Given the description of an element on the screen output the (x, y) to click on. 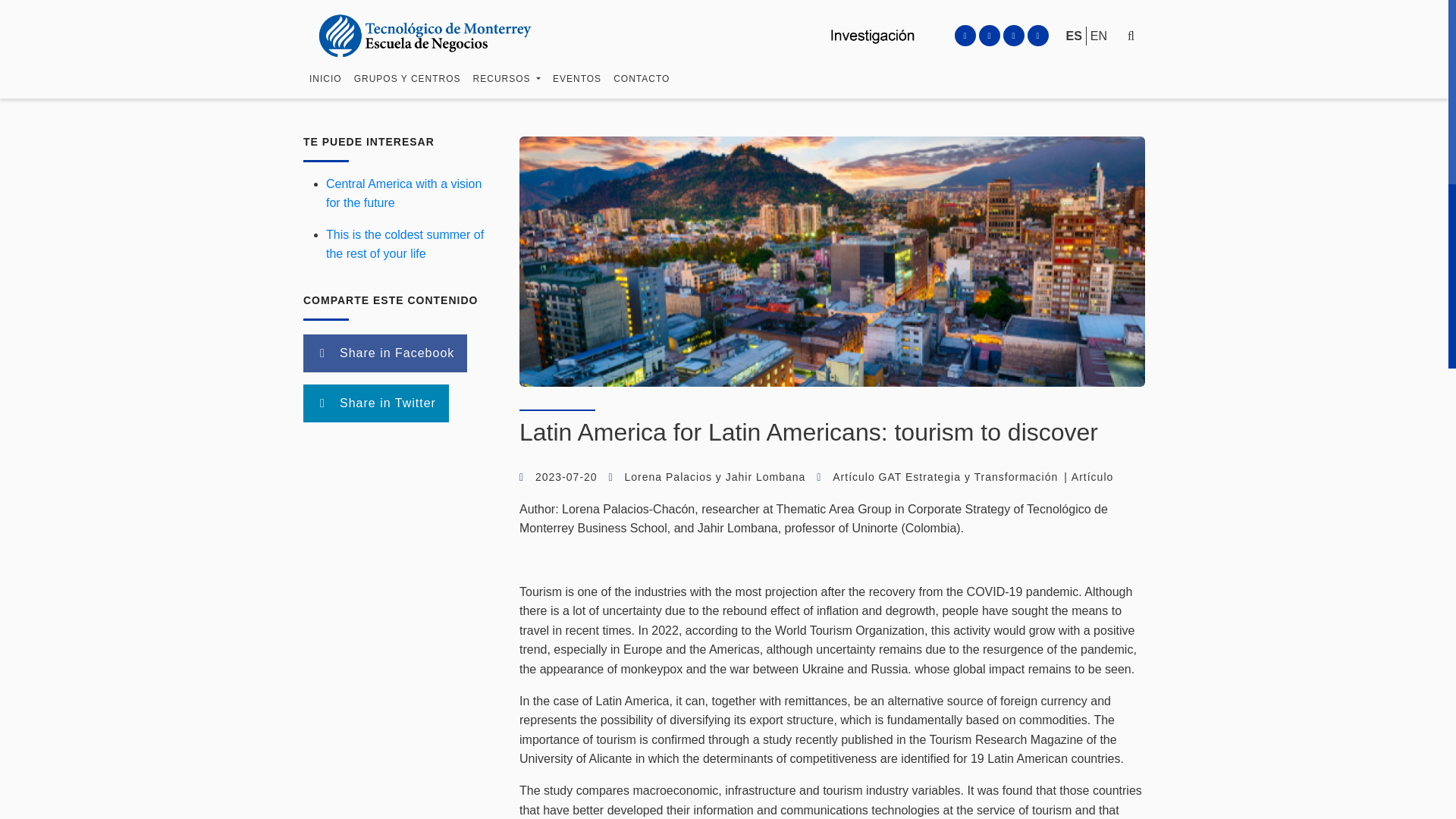
Central America with a vision for the future (403, 193)
EVENTOS (577, 100)
Buscar (1090, 71)
Share in Twitter (375, 403)
EN (1098, 8)
INICIO (324, 76)
Facebook share (384, 353)
This is the coldest summer of the rest of your life (404, 244)
GRUPOS Y CENTROS (407, 82)
RECURSOS (507, 85)
Twitter share (375, 403)
Latin America for Latin Americans: tourism to discover (808, 431)
Share in Facebook (384, 353)
ES (1074, 5)
